Given the description of an element on the screen output the (x, y) to click on. 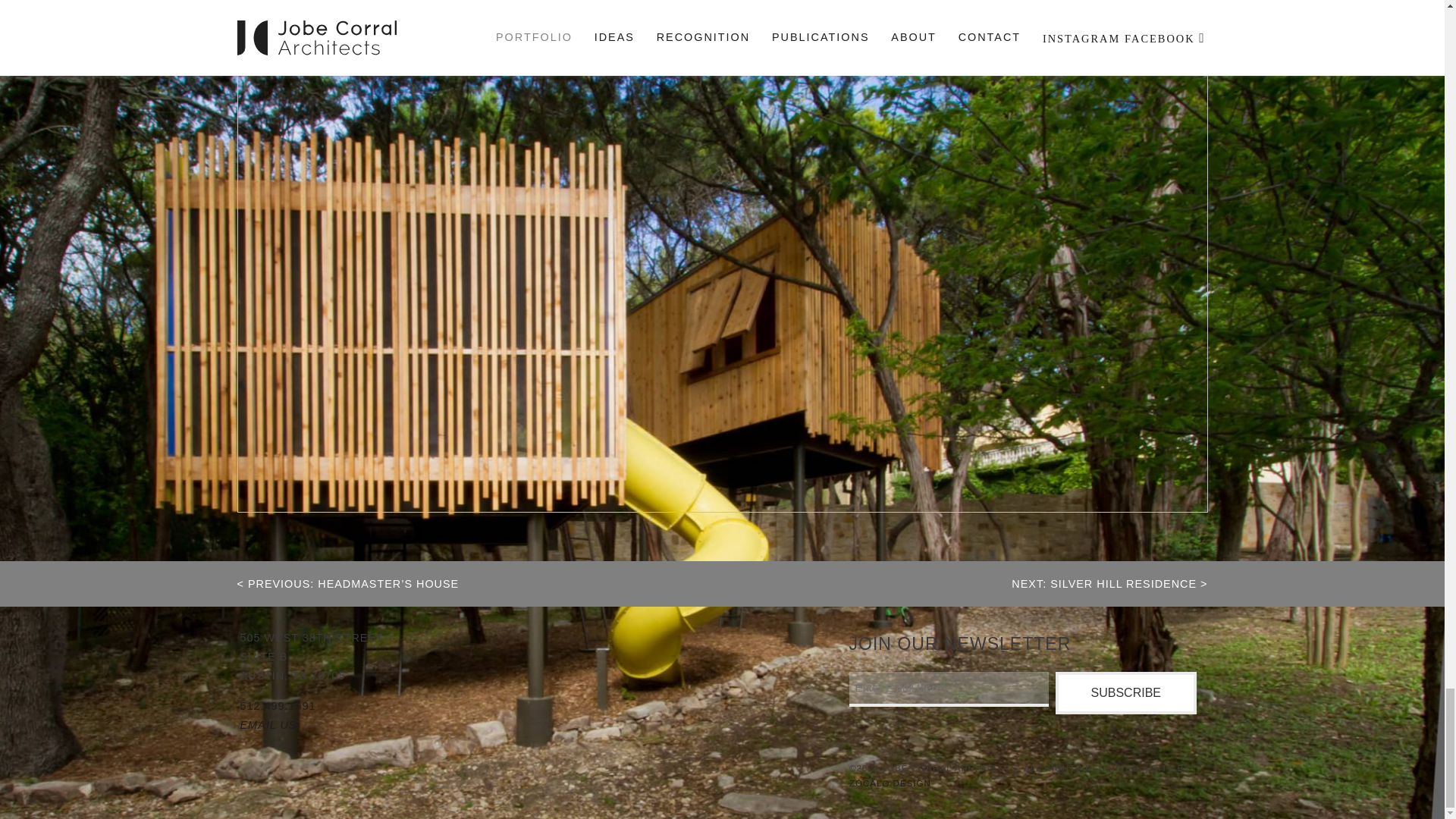
Subscribe (1125, 692)
Subscribe (1125, 692)
EMAIL US (268, 725)
512.499.1591 (277, 705)
